Given the description of an element on the screen output the (x, y) to click on. 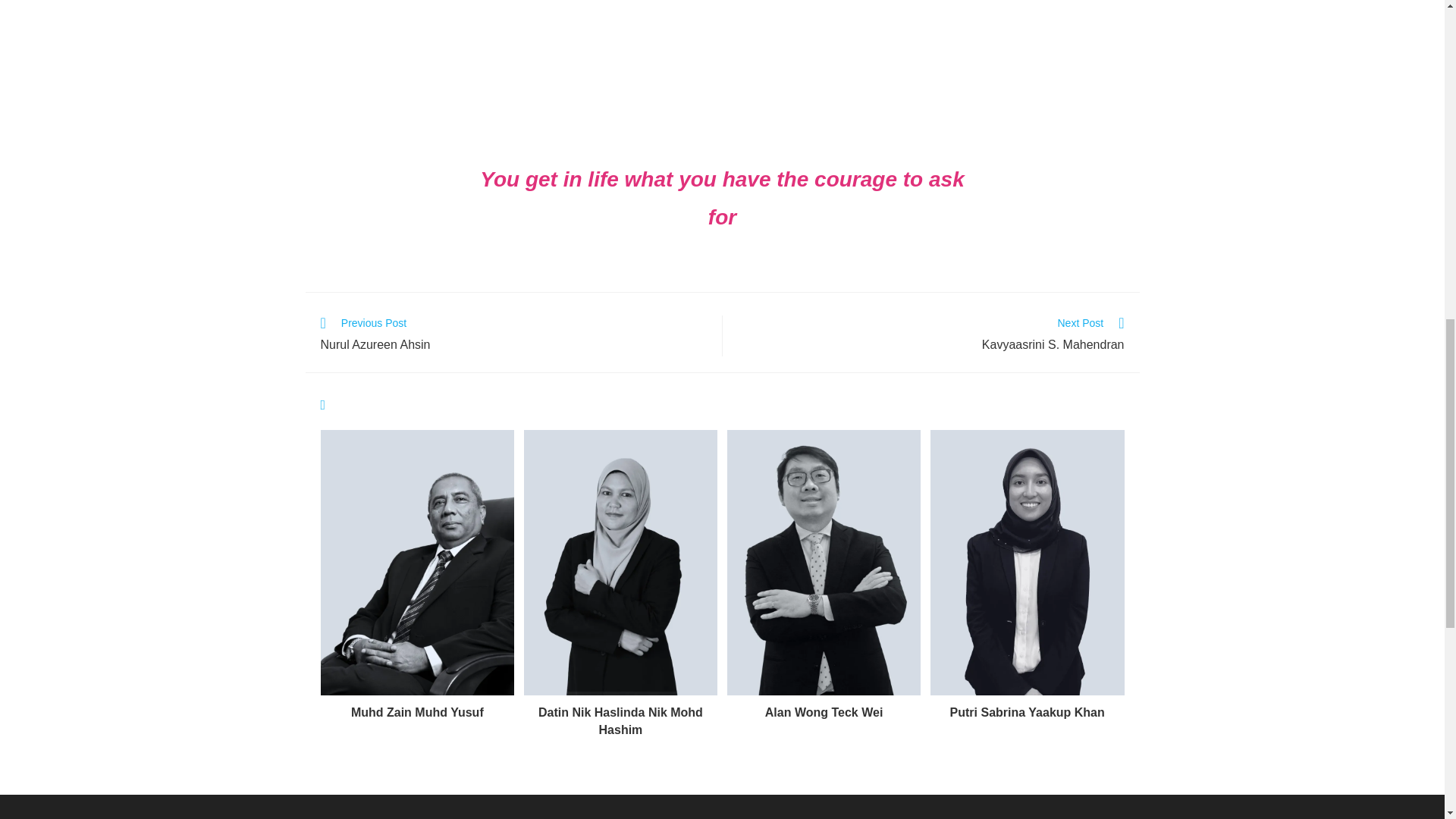
Putri Sabrina Yaakup Khan (1027, 712)
Alan Wong Teck Wei (824, 712)
Page 1 (930, 335)
Datin Nik Haslinda Nik Mohd Hashim (513, 335)
Muhd Zain Muhd Yusuf (722, 45)
